Given the description of an element on the screen output the (x, y) to click on. 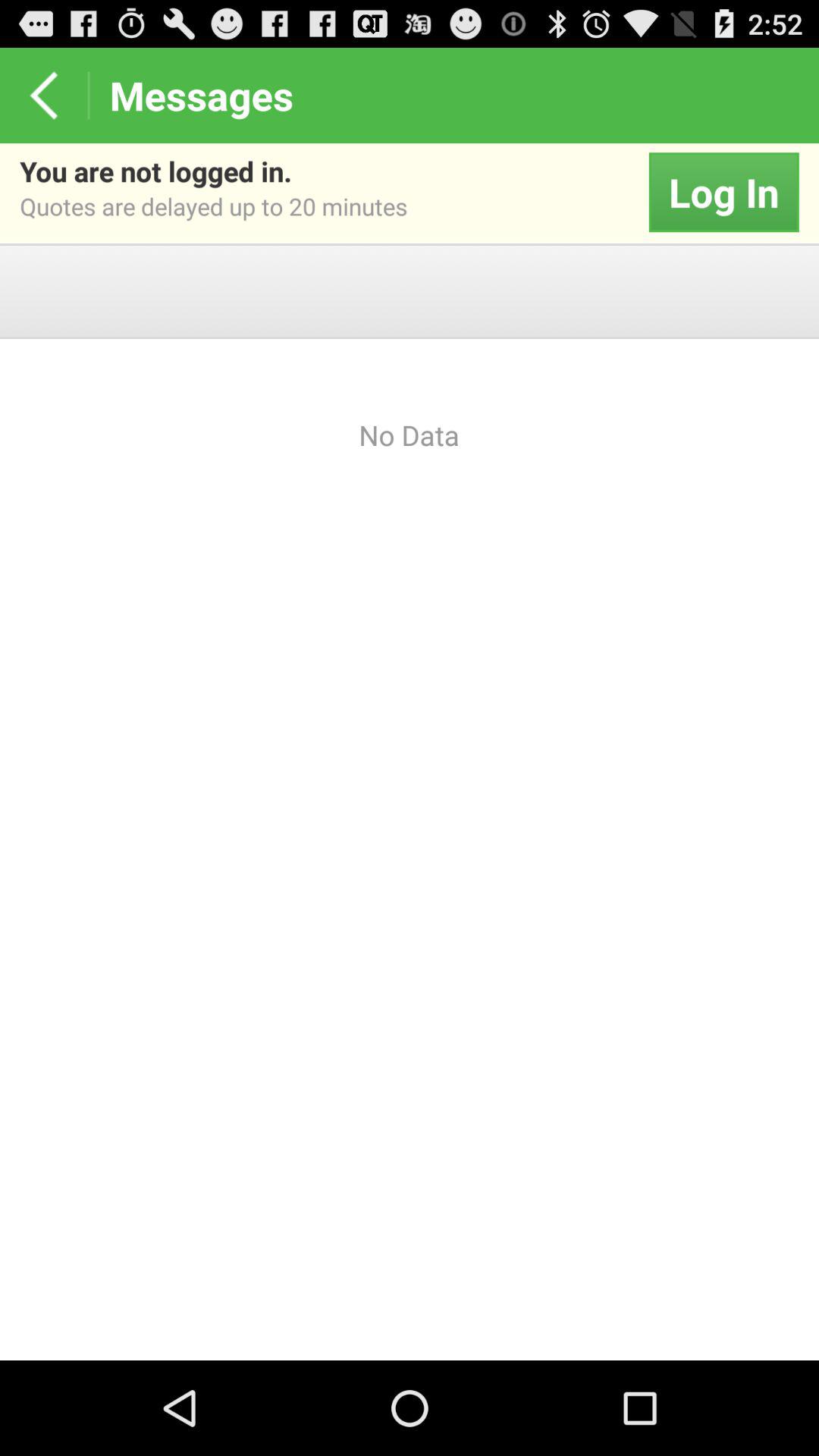
press the item next to the you are not app (723, 193)
